Given the description of an element on the screen output the (x, y) to click on. 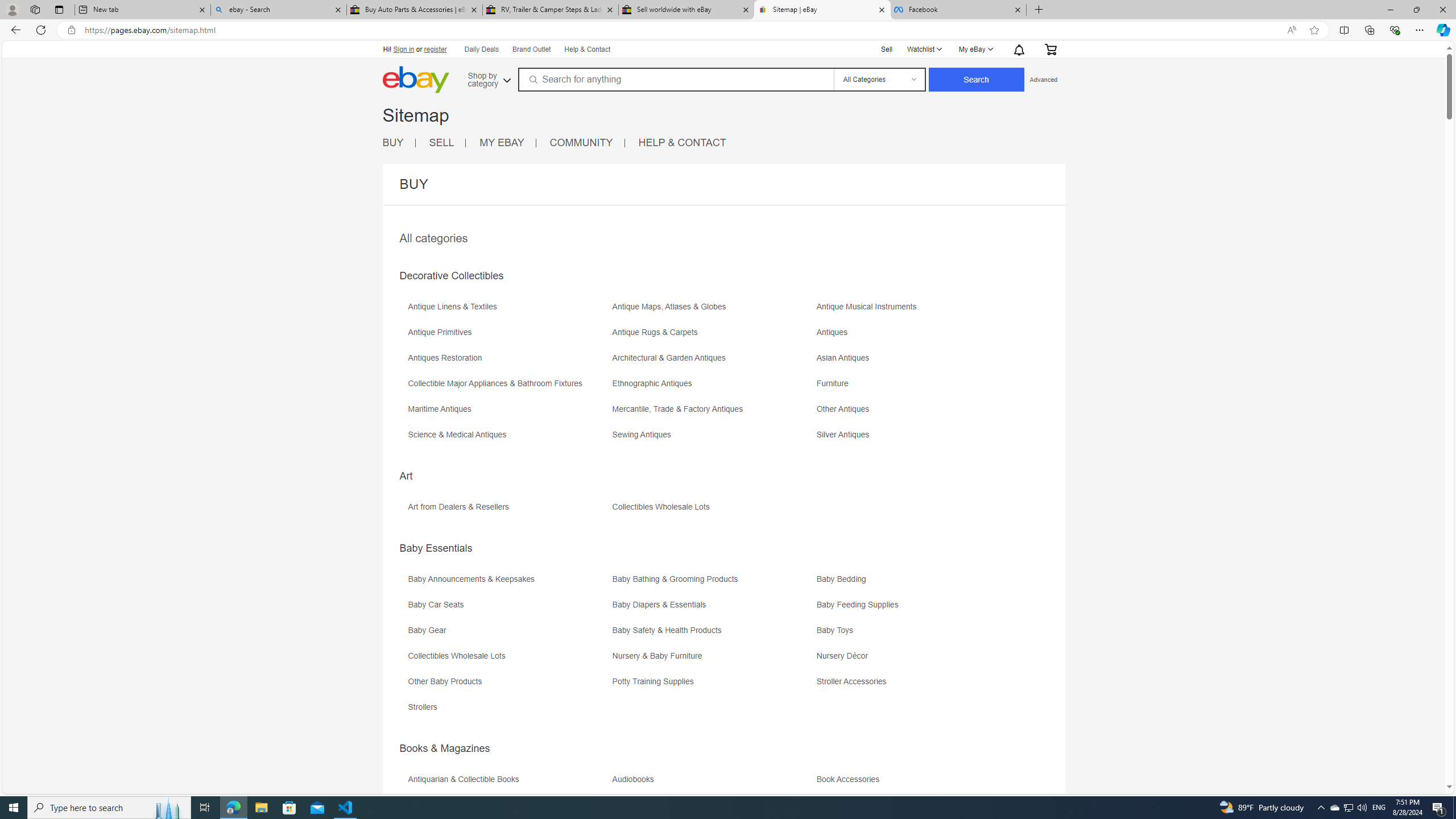
MY EBAY (501, 142)
Baby Safety & Health Products (712, 634)
SELL (447, 142)
Book Accessories (850, 779)
Baby Gear (508, 634)
Antique Primitives (442, 332)
Select a category for search (878, 79)
Asian Antiques (917, 361)
Collectibles Wholesale Lots (459, 655)
Nursery & Baby Furniture (712, 659)
Search for anything (675, 79)
Books & Magazines (444, 748)
Antique Maps, Atlases & Globes (671, 306)
Mercantile, Trade & Factory Antiques (679, 408)
